Given the description of an element on the screen output the (x, y) to click on. 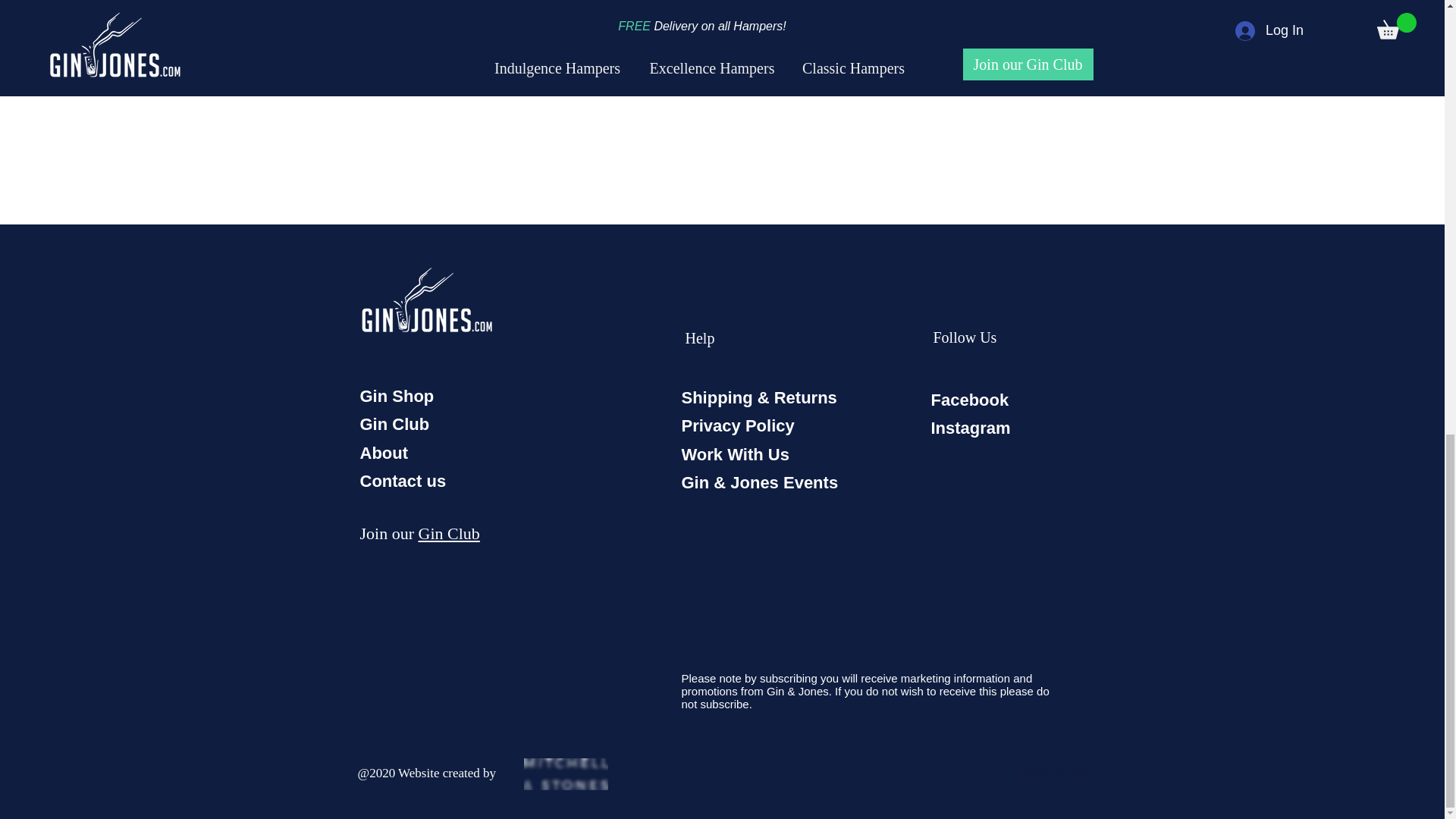
Gin Club (394, 424)
Privacy Policy (737, 425)
Work With Us (735, 454)
Instagram (970, 427)
Gin Club (449, 533)
Back to top (1052, 772)
About (383, 452)
Gin Shop (396, 395)
Facebook (970, 399)
Contact us (402, 480)
